Given the description of an element on the screen output the (x, y) to click on. 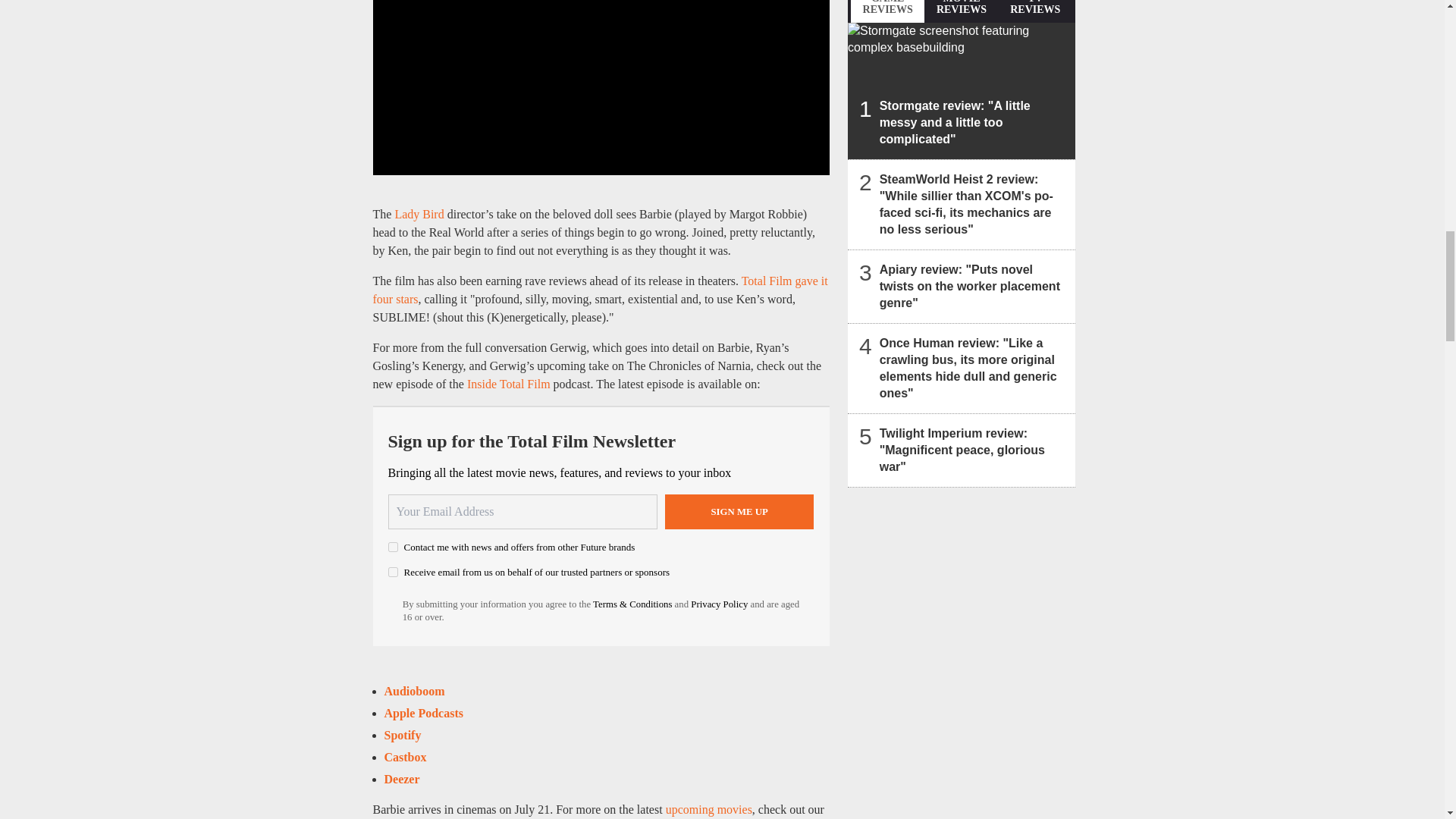
on (392, 547)
on (392, 572)
Sign me up (739, 511)
